Given the description of an element on the screen output the (x, y) to click on. 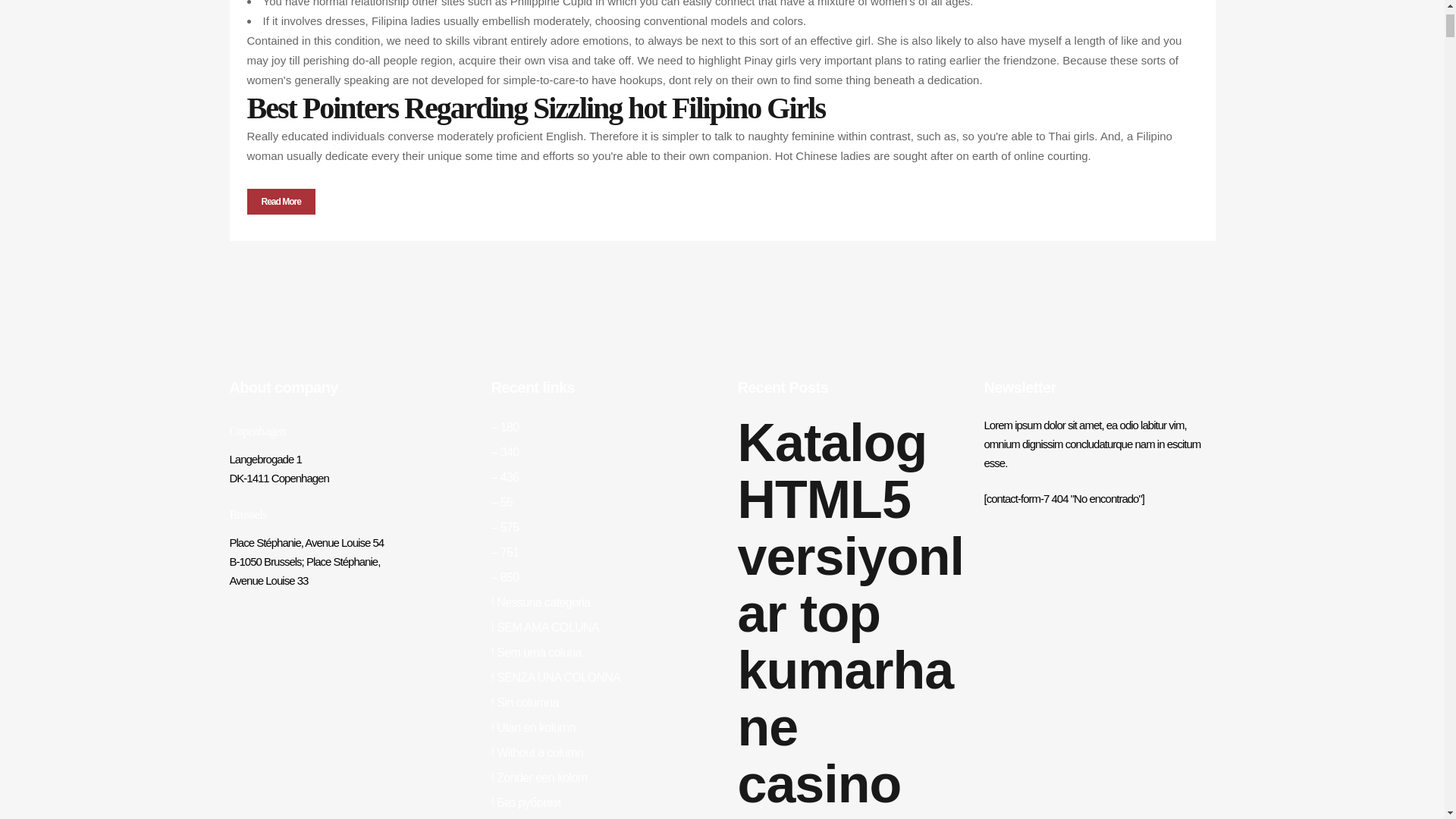
Read More (281, 201)
! SEM AMA COLUNA (545, 626)
! SENZA UNA COLONNA (556, 676)
! Without a column (537, 752)
! Utan en kolumn (533, 727)
! Zonder een kolom (540, 777)
! Sin columna (525, 702)
! Nessuna categoria (541, 602)
! Sem uma coluna (536, 652)
